Given the description of an element on the screen output the (x, y) to click on. 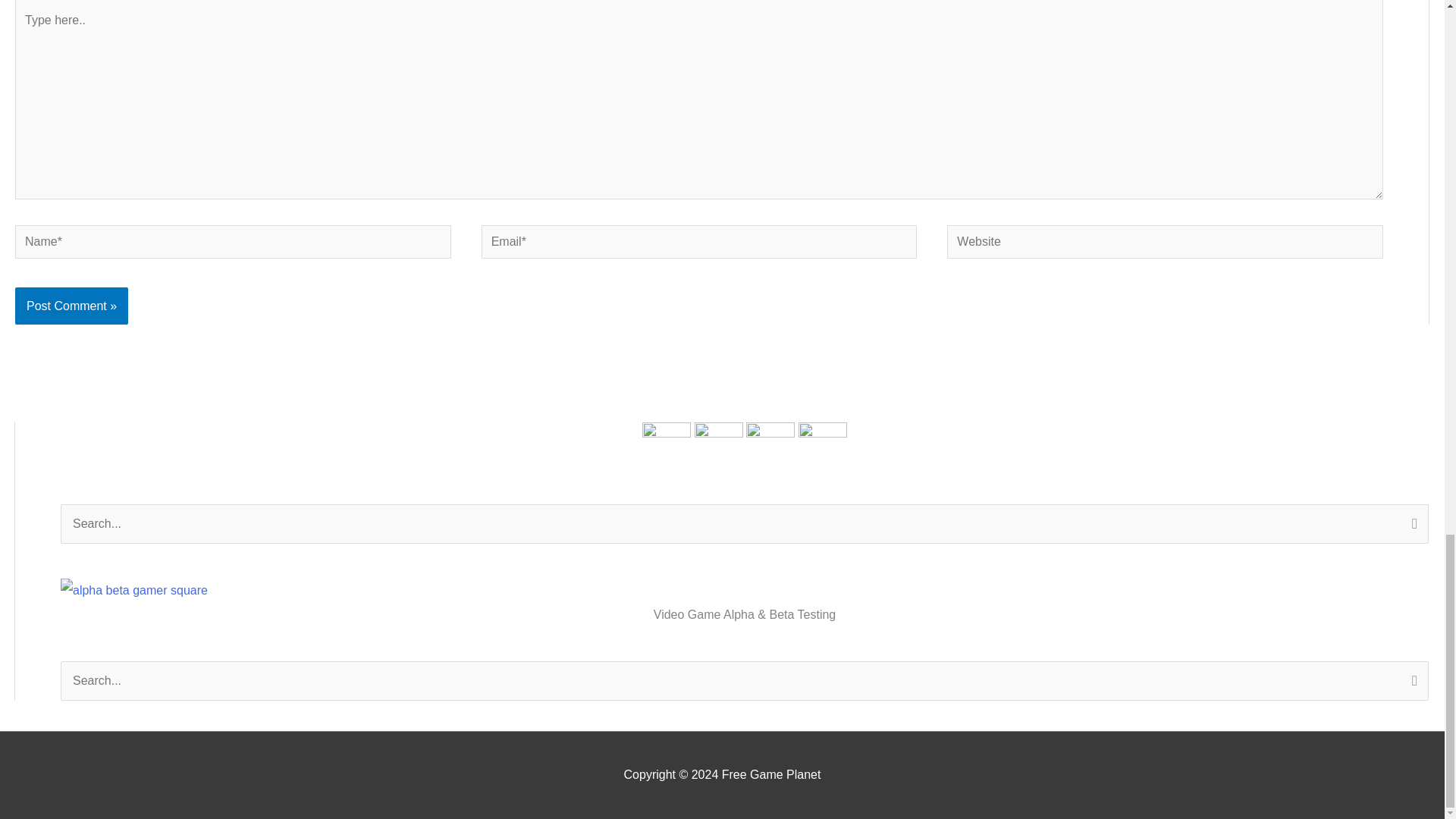
Search (1411, 525)
Search (1411, 681)
Search (1411, 681)
Search (1411, 525)
